Given the description of an element on the screen output the (x, y) to click on. 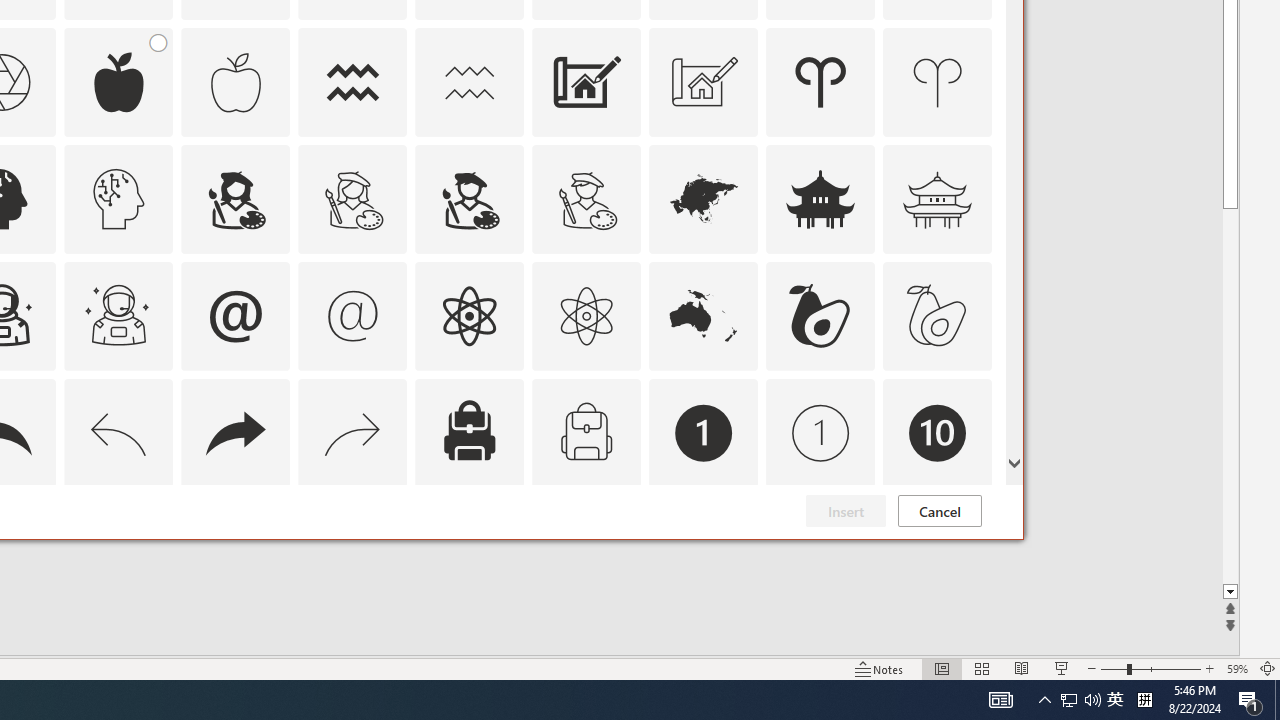
AutomationID: Icons_Aries_M (938, 82)
AutomationID: Icons_Back_RTL_M (353, 432)
AutomationID: Icons_Back_LTR_M (118, 432)
AutomationID: Icons_At_M (353, 316)
AutomationID: Icons_Badge7 (353, 550)
AutomationID: Icons_Architecture (586, 82)
